Given the description of an element on the screen output the (x, y) to click on. 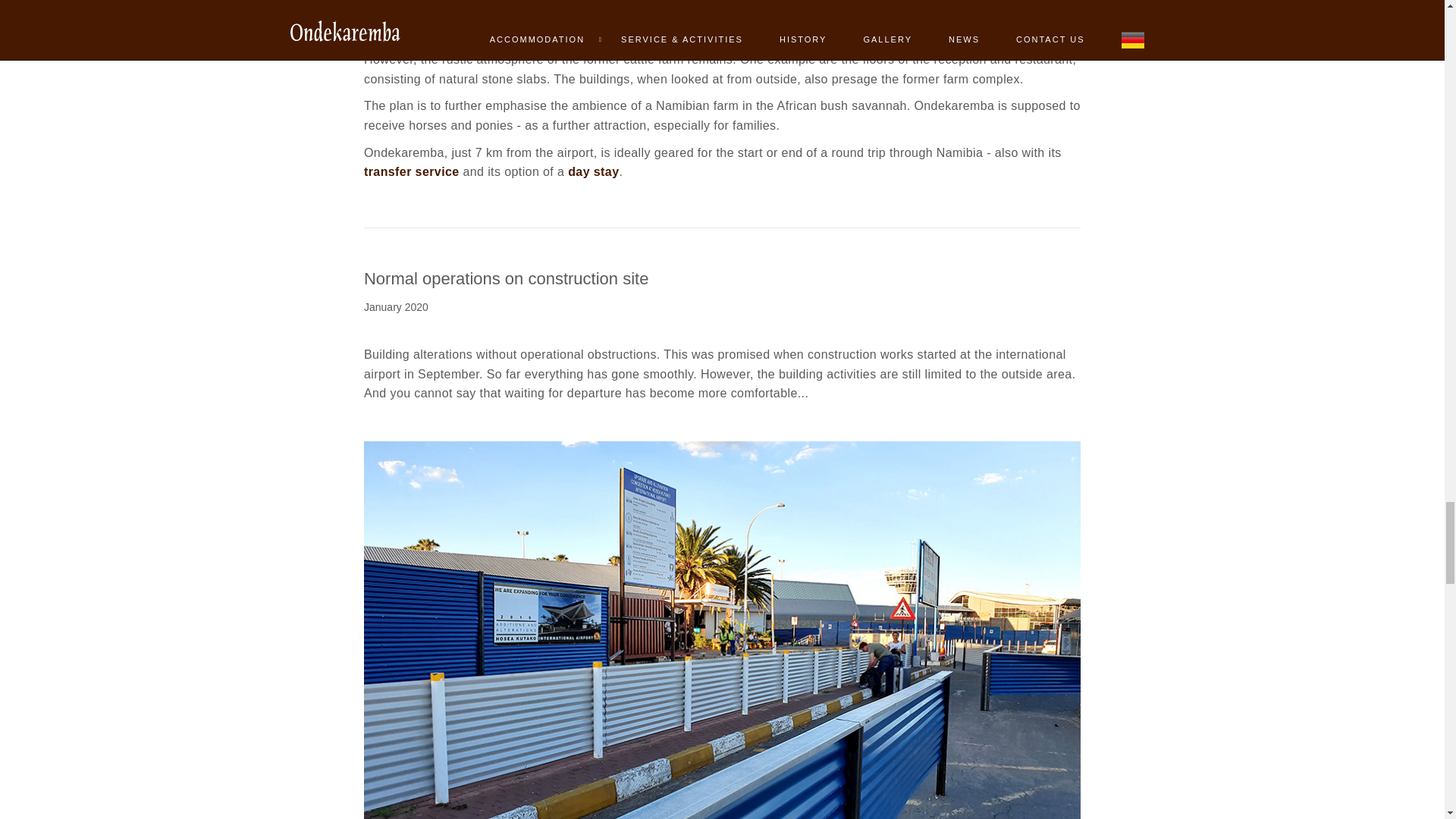
day stay (592, 171)
transfer service (412, 171)
